Given the description of an element on the screen output the (x, y) to click on. 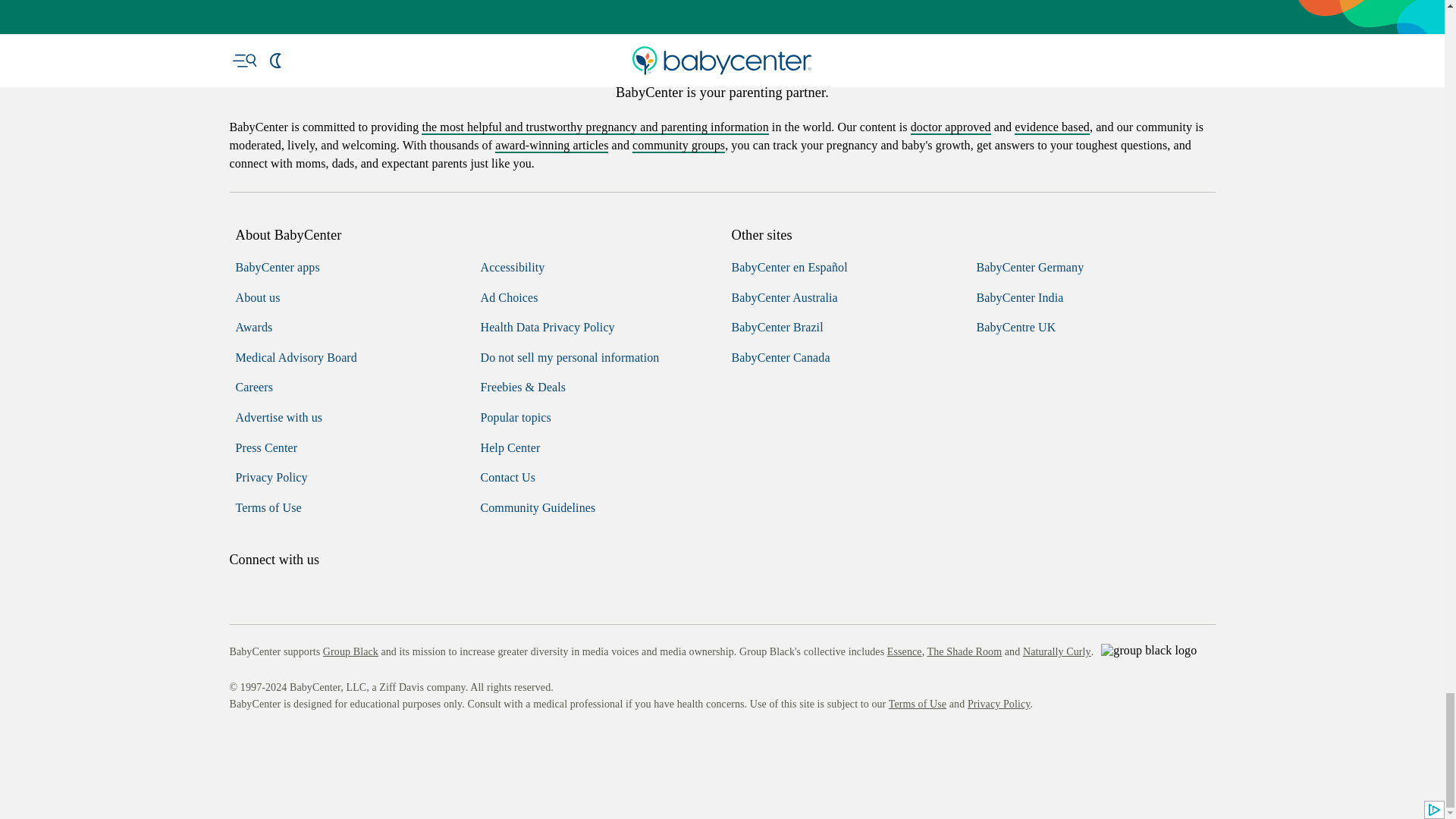
BabyCenter Instagram feed (274, 743)
BabyCenter Facebook page (239, 743)
BabyCenter Pinterest board (309, 743)
BabyCenter Twitter feed (379, 743)
BabyCenter YouTube channel (344, 743)
